Given the description of an element on the screen output the (x, y) to click on. 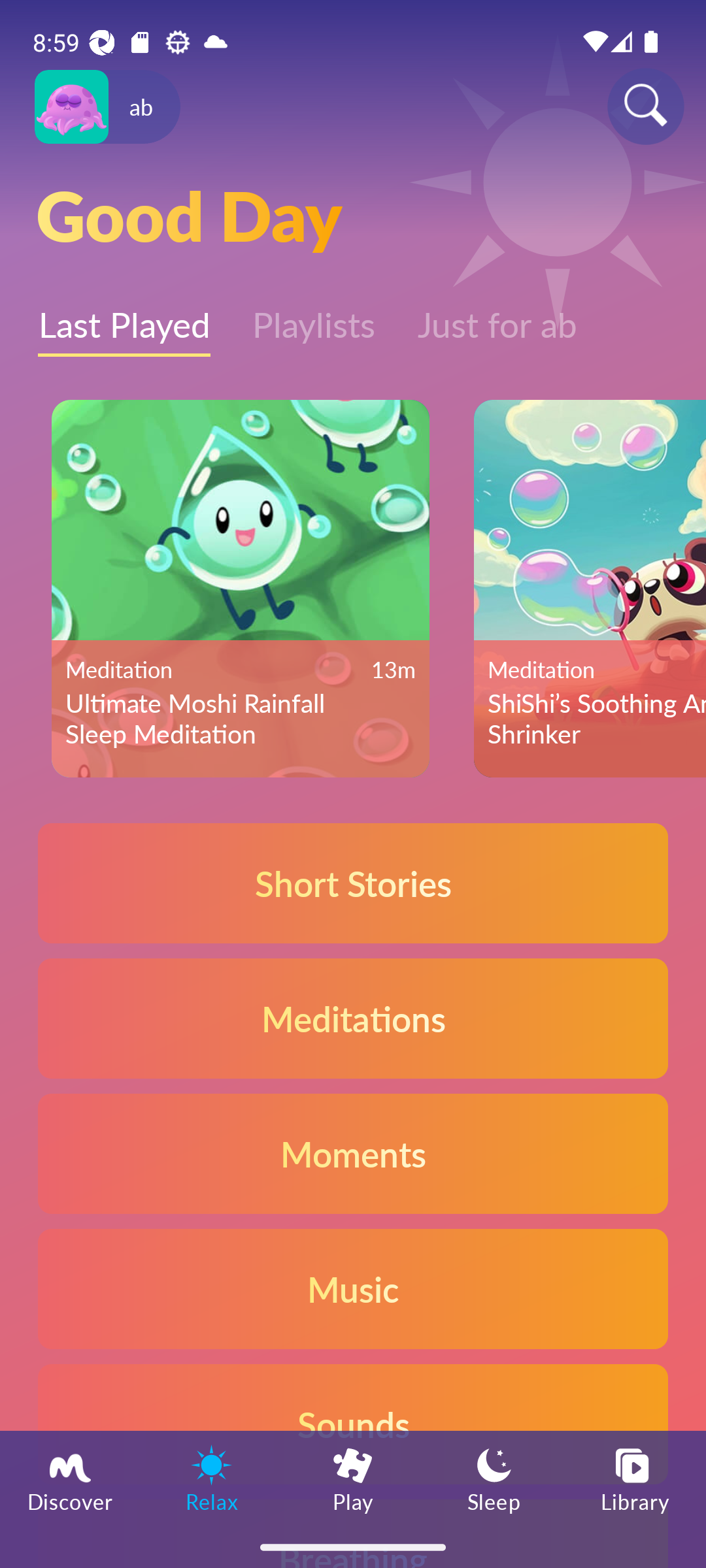
Profile icon ab (107, 107)
Playlists (313, 315)
Just for ab (497, 315)
Short Stories (352, 883)
Meditations (352, 1017)
Moments (352, 1152)
Music (352, 1288)
Discover (70, 1478)
Play (352, 1478)
Sleep (493, 1478)
Library (635, 1478)
